Given the description of an element on the screen output the (x, y) to click on. 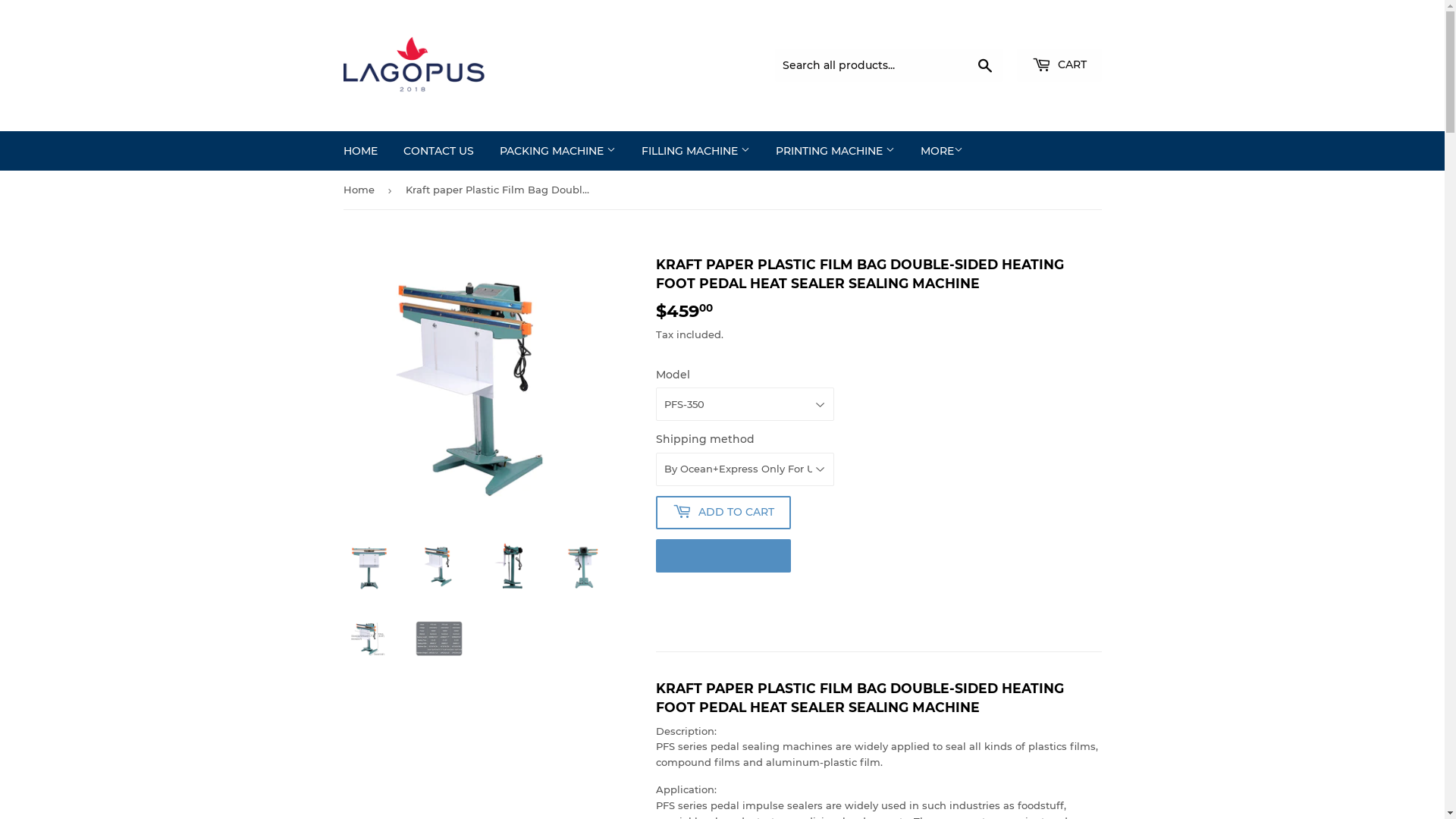
PACKING MACHINE Element type: text (557, 150)
PRINTING MACHINE Element type: text (835, 150)
MORE Element type: text (940, 150)
CONTACT US Element type: text (437, 150)
Search Element type: text (984, 65)
ADD TO CART Element type: text (722, 512)
FILLING MACHINE Element type: text (694, 150)
Home Element type: text (360, 189)
HOME Element type: text (360, 150)
CART Element type: text (1058, 64)
